Given the description of an element on the screen output the (x, y) to click on. 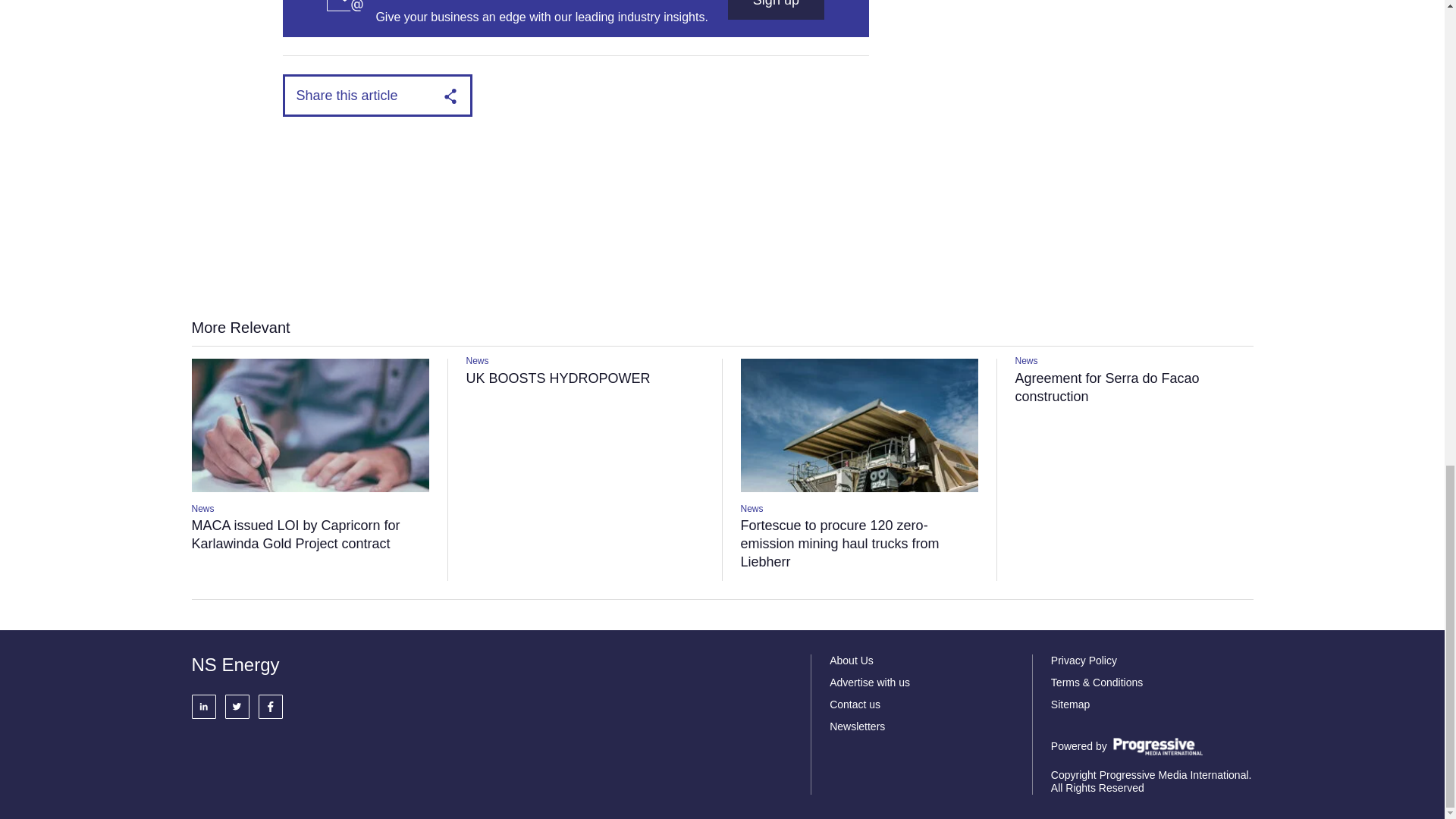
on (606, 48)
on (473, 48)
on (738, 48)
